Given the description of an element on the screen output the (x, y) to click on. 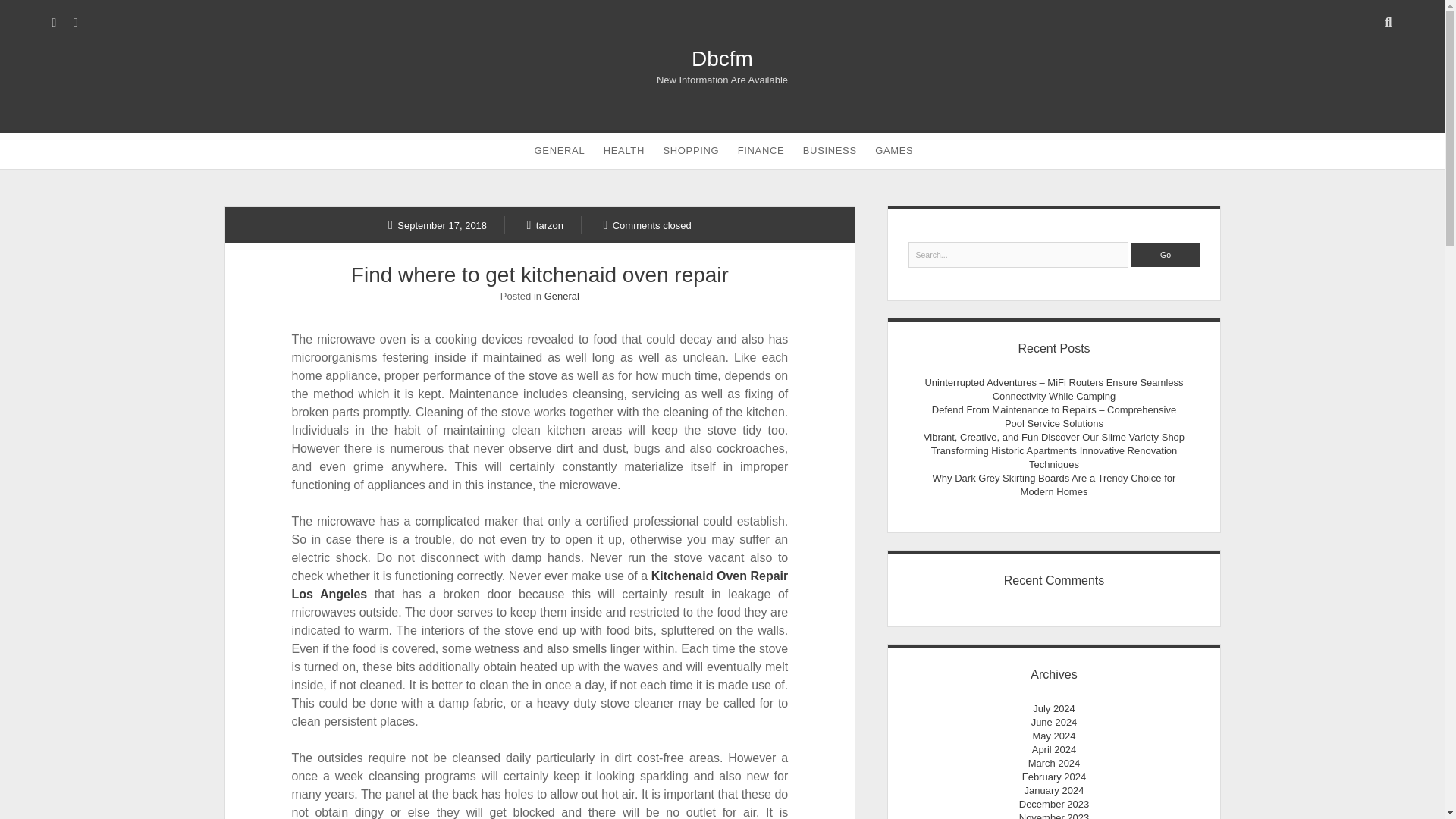
March 2024 (1053, 763)
June 2024 (1053, 722)
SHOPPING (690, 150)
tarzon (545, 224)
View all posts in General (561, 296)
HEALTH (623, 150)
May 2024 (1053, 736)
Posts from September (437, 224)
Go (1165, 254)
GAMES (893, 150)
Go (1165, 254)
December 2023 (1054, 803)
April 2024 (1054, 749)
July 2024 (1053, 708)
